Given the description of an element on the screen output the (x, y) to click on. 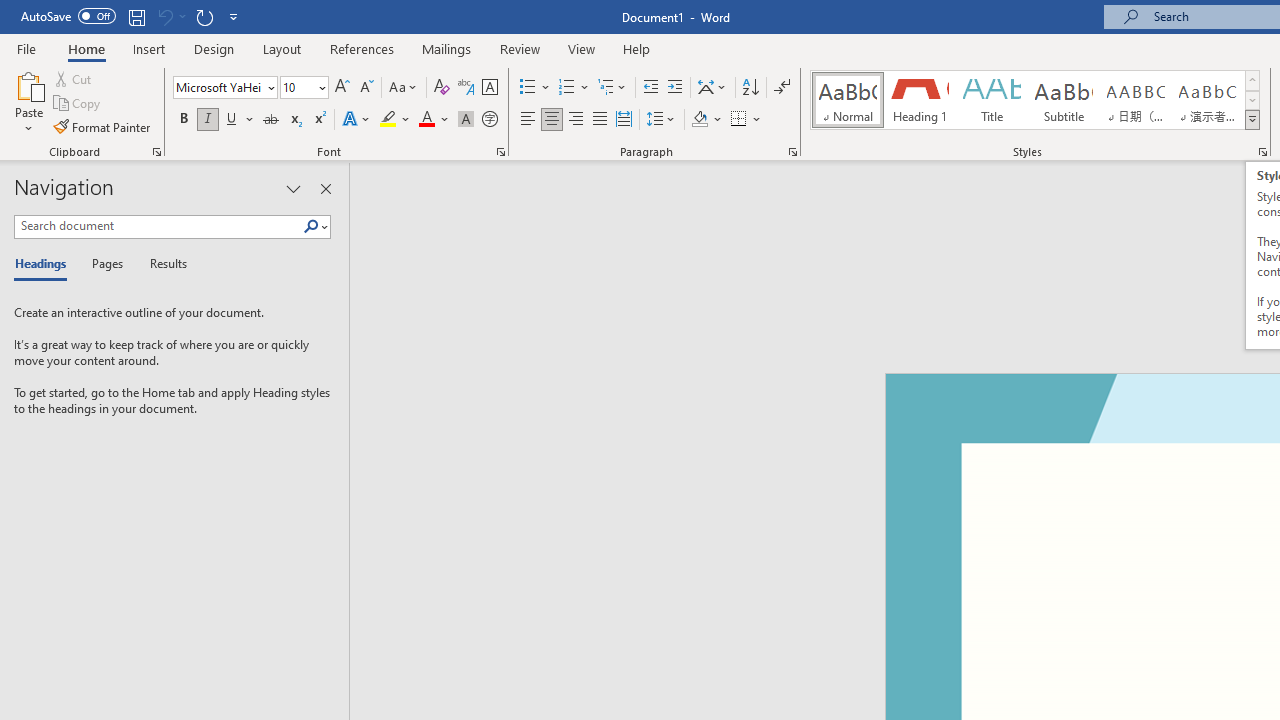
Asian Layout (712, 87)
Copy (78, 103)
Align Right (575, 119)
Decrease Indent (650, 87)
Title (991, 100)
Bold (183, 119)
Office Clipboard... (156, 151)
